Given the description of an element on the screen output the (x, y) to click on. 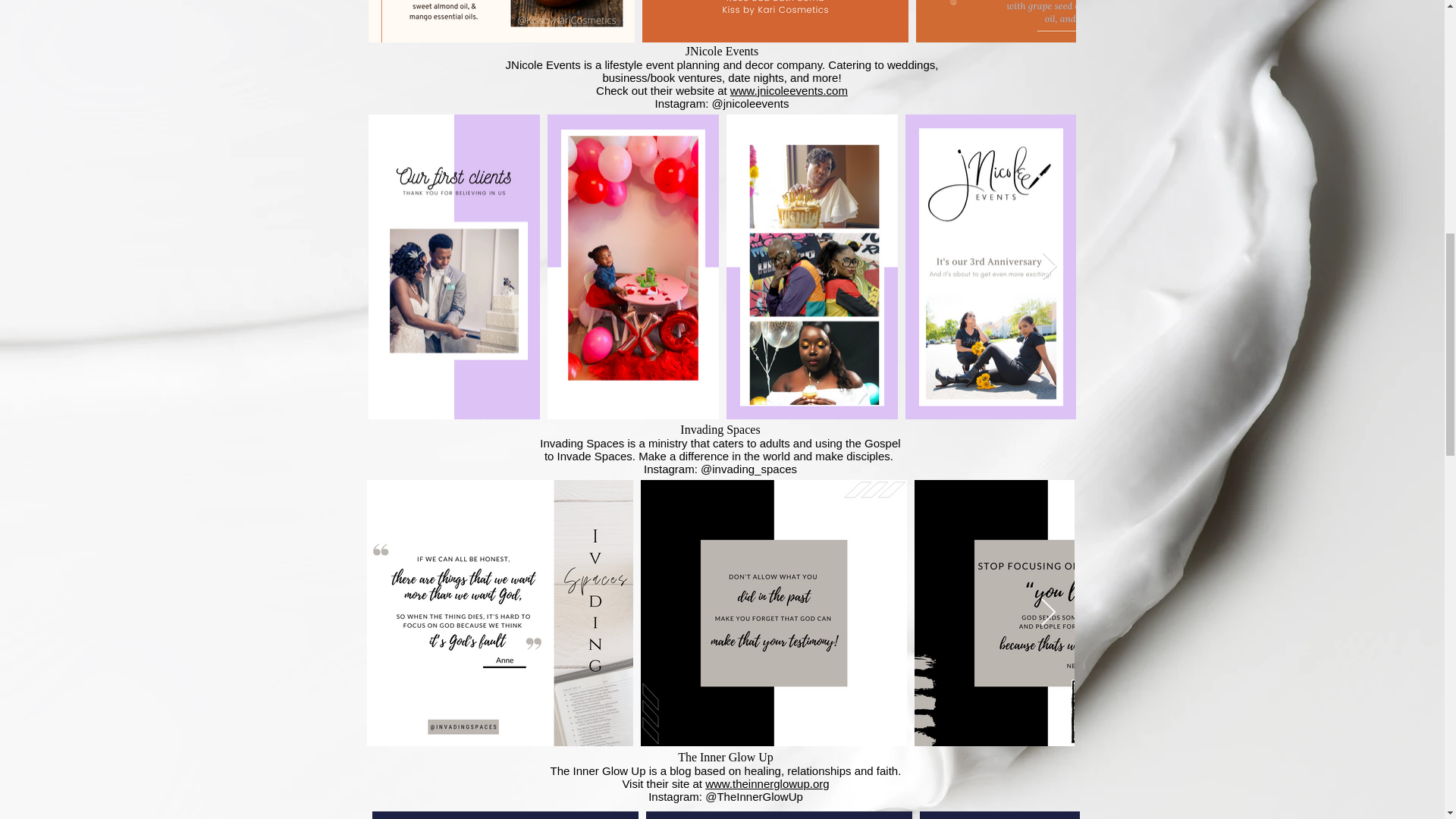
www.jnicoleevents.com (788, 90)
www.theinnerglowup.org (766, 783)
